Given the description of an element on the screen output the (x, y) to click on. 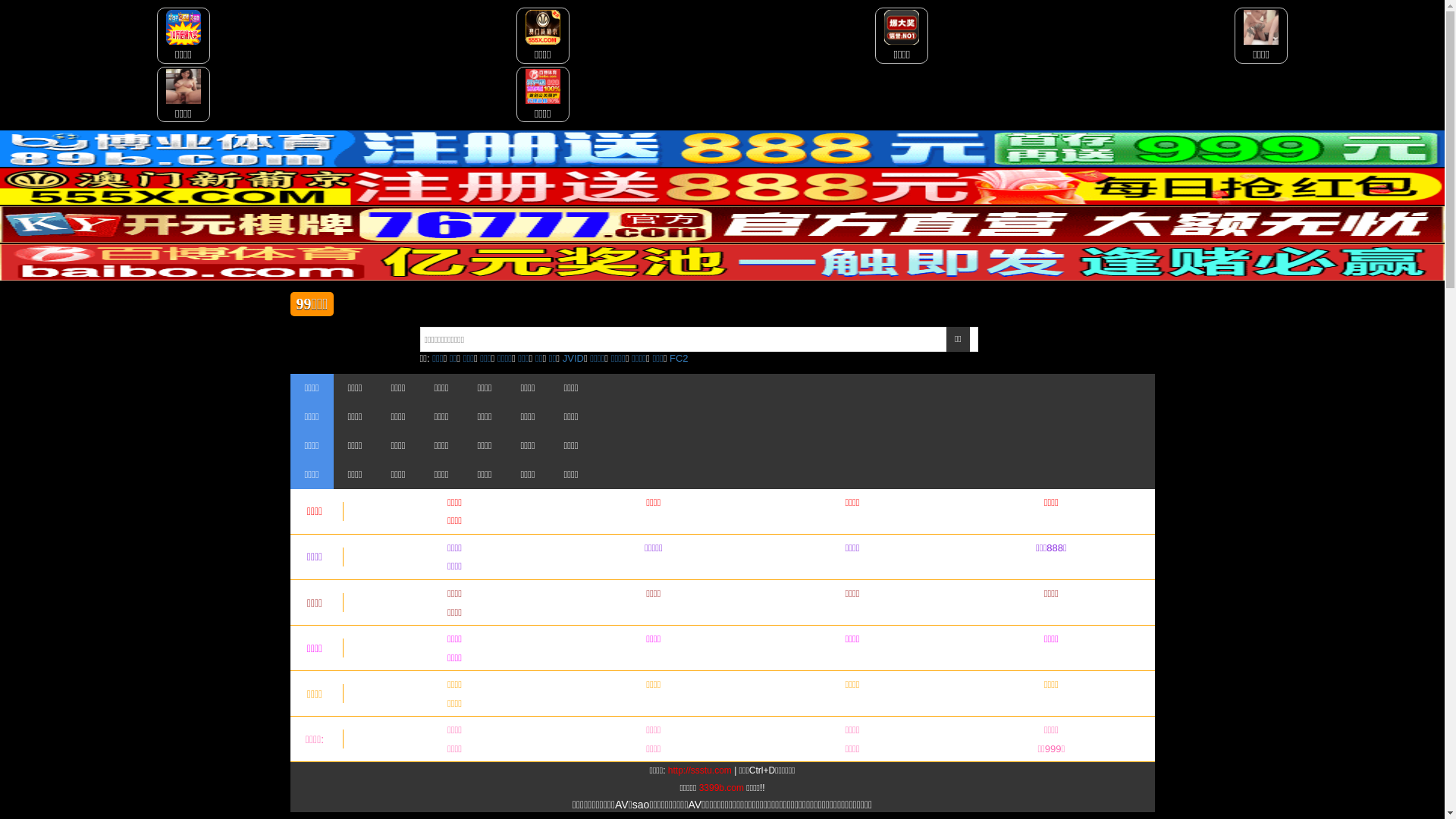
FC2 Element type: text (678, 358)
JVID Element type: text (572, 358)
